Given the description of an element on the screen output the (x, y) to click on. 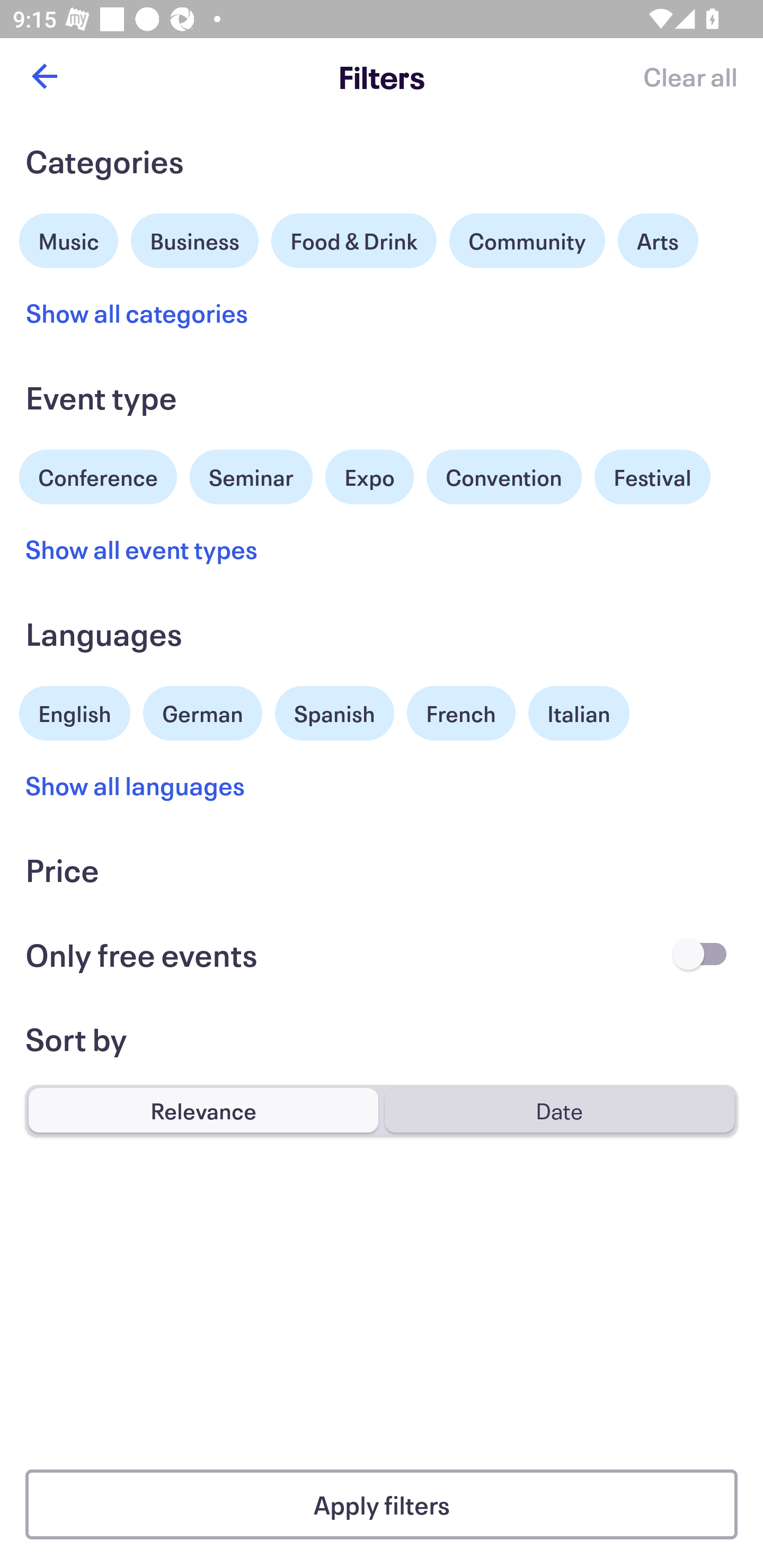
Back button (44, 75)
Clear all (690, 75)
Music (68, 238)
Business (194, 238)
Food & Drink (353, 240)
Community (527, 240)
Arts (658, 240)
Show all categories (136, 312)
Conference (98, 475)
Seminar (250, 477)
Expo (369, 477)
Convention (503, 477)
Festival (652, 477)
Show all event types (141, 548)
English (74, 710)
German (202, 710)
Spanish (334, 713)
French (460, 713)
Italian (578, 713)
Show all languages (135, 784)
Relevance (203, 1109)
Date (559, 1109)
Apply filters (381, 1504)
